Given the description of an element on the screen output the (x, y) to click on. 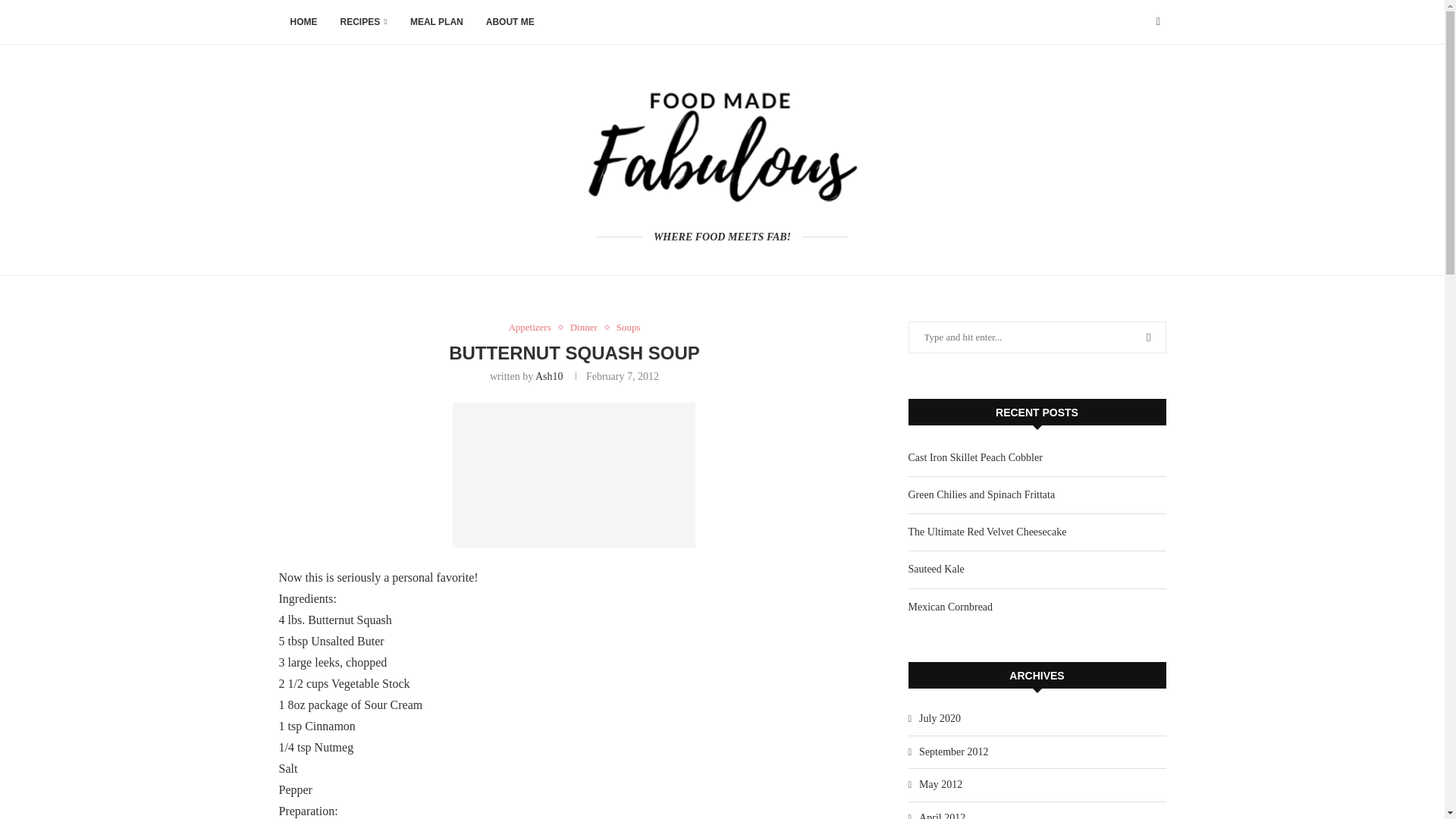
IMAG0376 (573, 474)
Appetizers (532, 327)
HOME (304, 22)
ABOUT ME (510, 22)
MEAL PLAN (436, 22)
Ash10 (549, 376)
Soups (627, 327)
RECIPES (363, 22)
Dinner (587, 327)
